Given the description of an element on the screen output the (x, y) to click on. 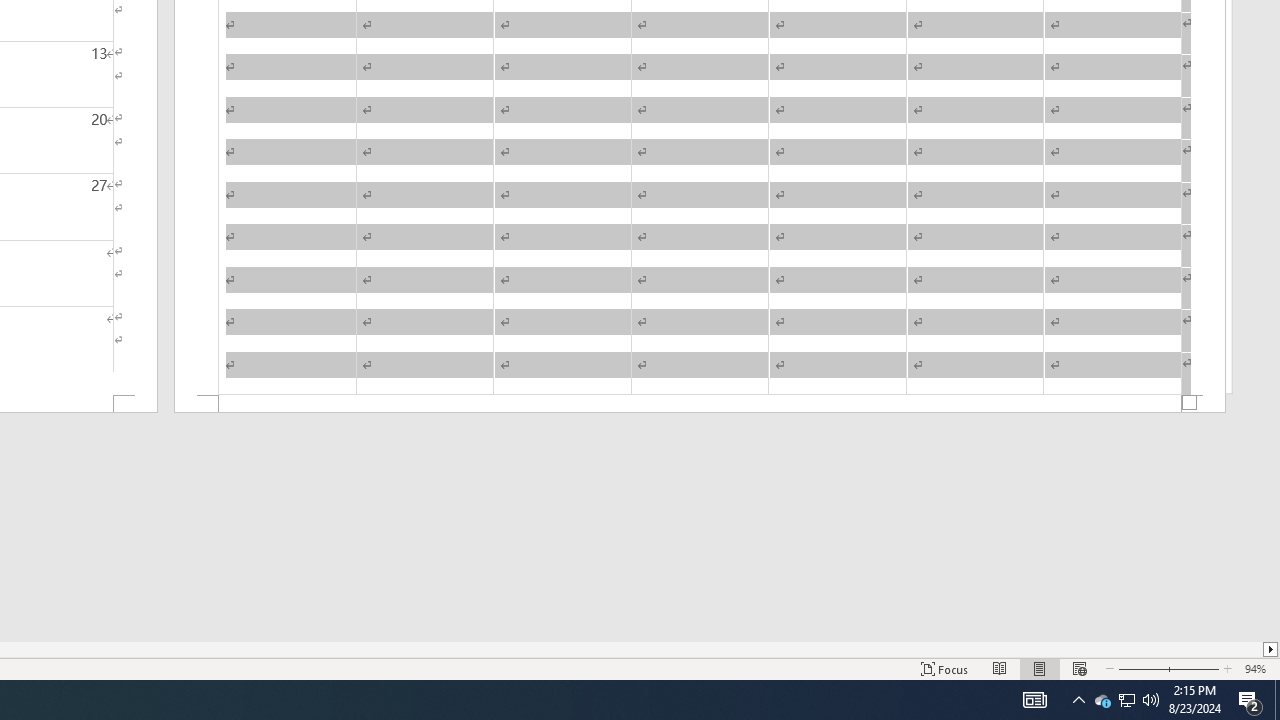
Column right (1271, 649)
Zoom In (1193, 668)
Footer -Section 1- (700, 404)
Zoom Out (1140, 668)
Focus  (944, 668)
